Given the description of an element on the screen output the (x, y) to click on. 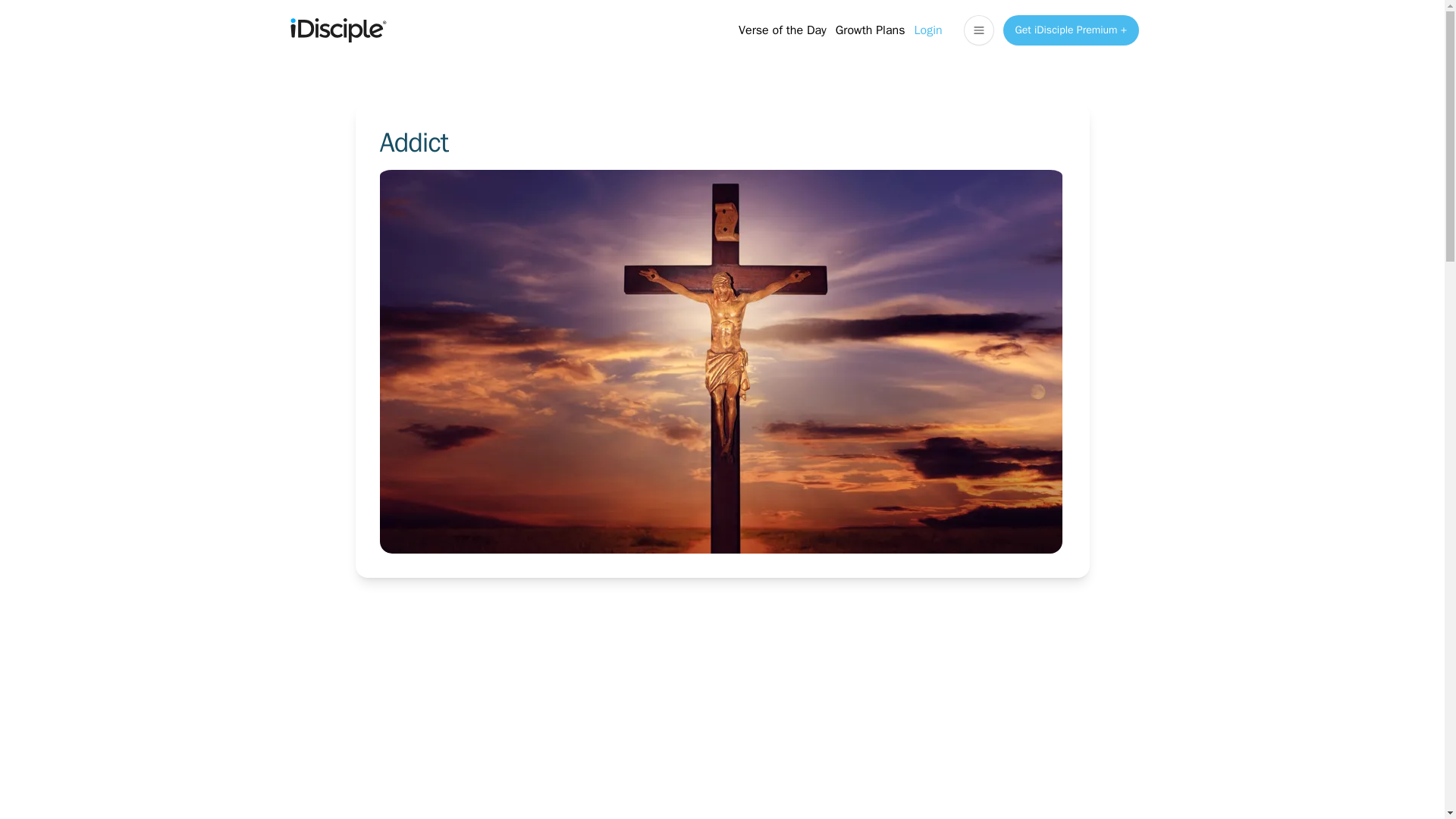
Verse of the Day (782, 29)
Growth Plans (870, 29)
Login (928, 29)
